Given the description of an element on the screen output the (x, y) to click on. 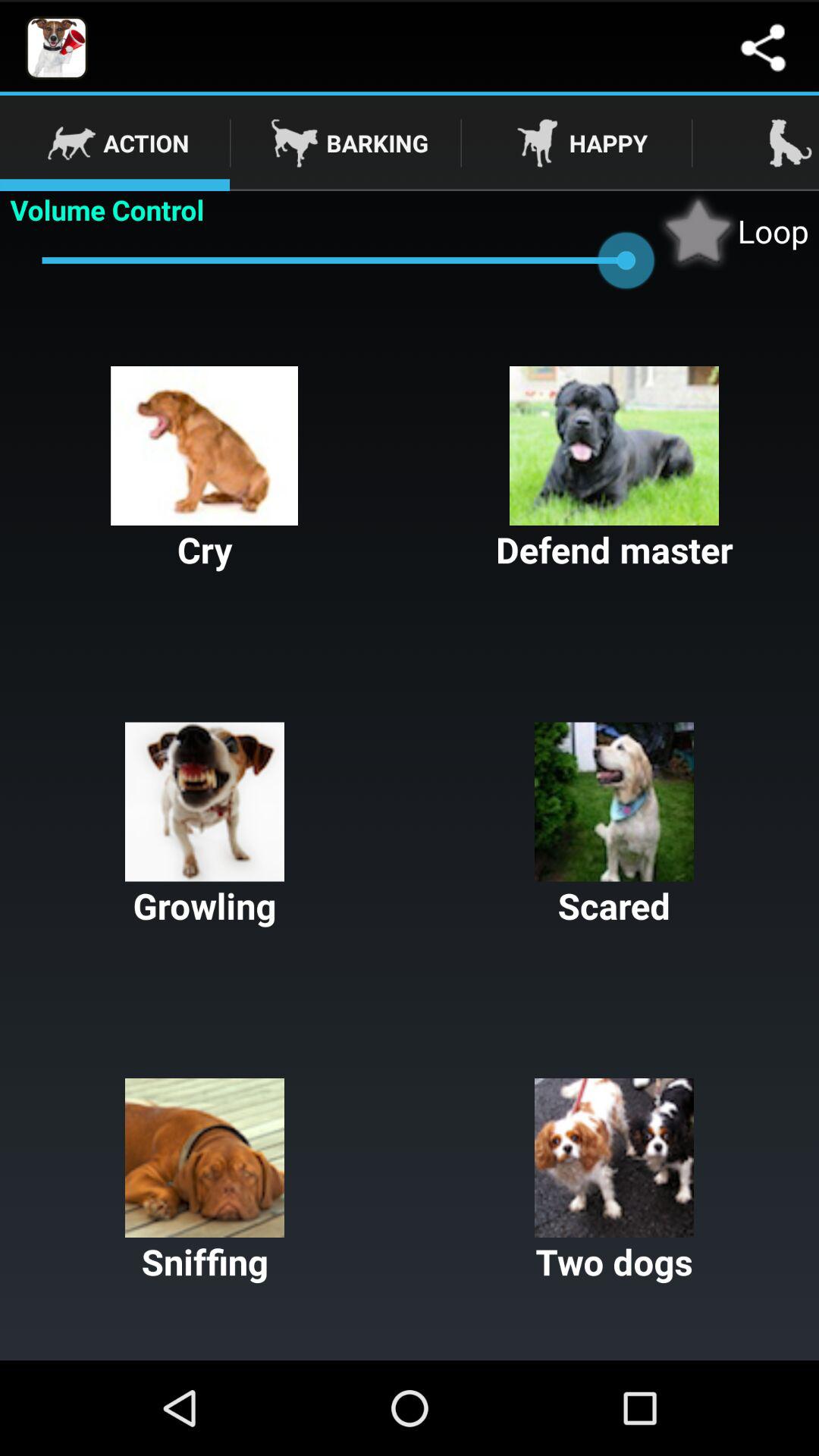
turn off item to the left of the defend master item (204, 469)
